Given the description of an element on the screen output the (x, y) to click on. 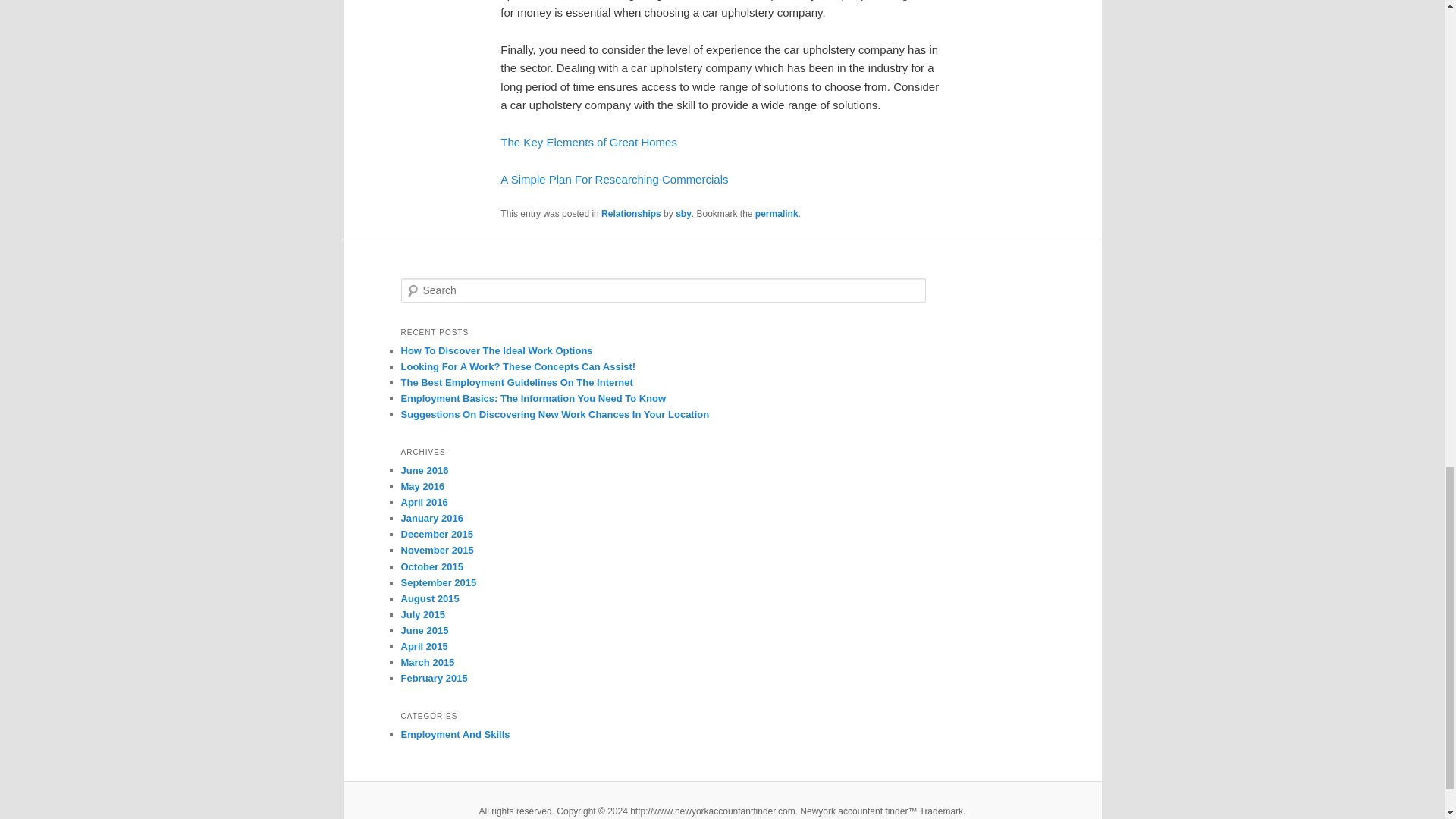
December 2015 (435, 533)
March 2015 (427, 662)
June 2015 (424, 630)
Relationships (631, 213)
The Key Elements of Great Homes (588, 141)
sby (683, 213)
Looking For A Work? These Concepts Can Assist! (517, 366)
August 2015 (429, 598)
Suggestions On Discovering New Work Chances In Your Location (554, 414)
April 2015 (423, 645)
April 2016 (423, 501)
How To Discover The Ideal Work Options (496, 350)
January 2016 (431, 518)
permalink (776, 213)
February 2015 (433, 677)
